Given the description of an element on the screen output the (x, y) to click on. 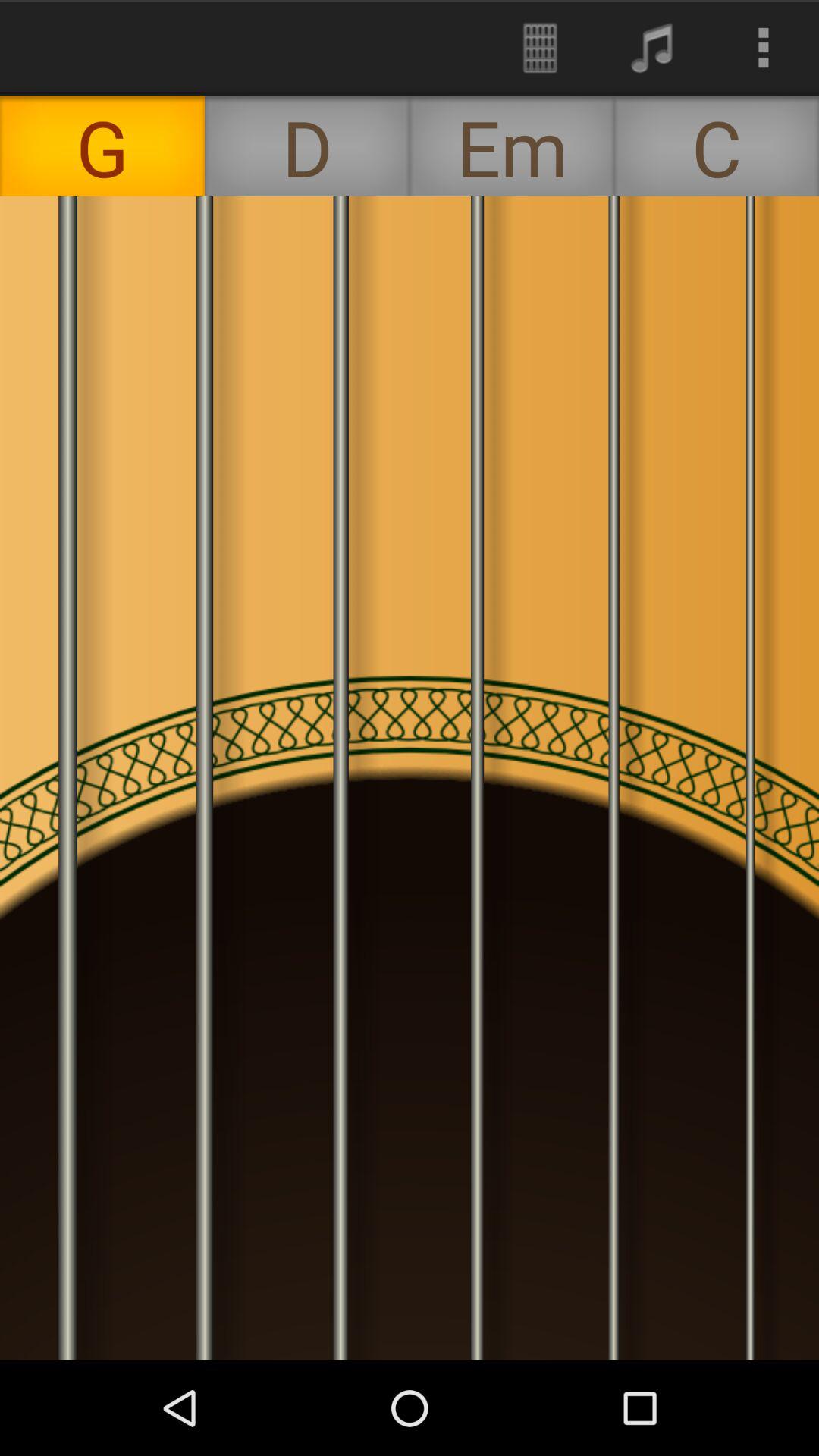
turn on the item at the top left corner (102, 145)
